Given the description of an element on the screen output the (x, y) to click on. 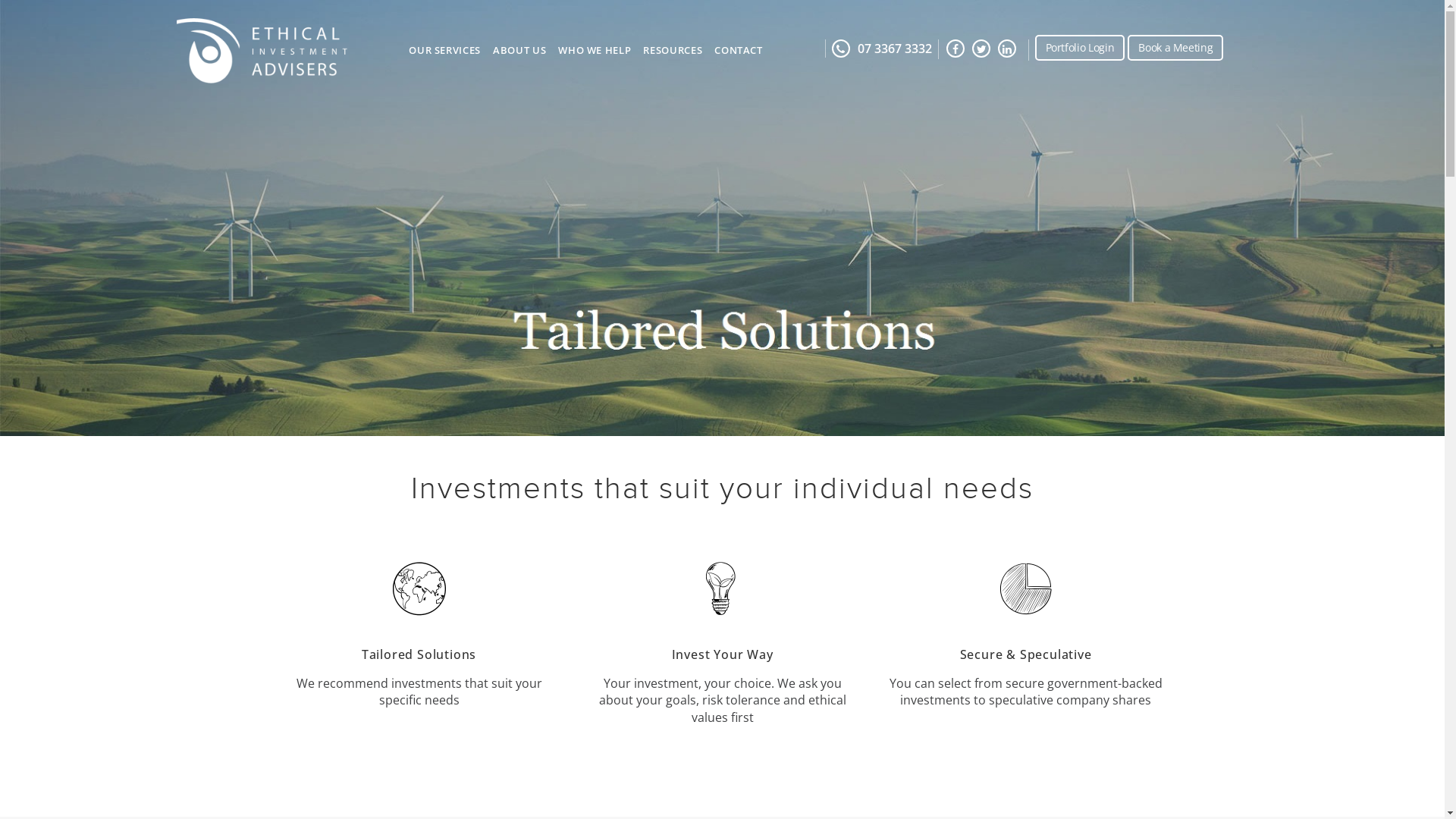
OUR SERVICES Element type: text (444, 54)
Book a Meeting Element type: text (1175, 47)
ABOUT US Element type: text (519, 54)
facebook Element type: hover (957, 48)
CONTACT Element type: text (738, 54)
WHO WE HELP Element type: text (594, 54)
linkedin Element type: hover (1008, 48)
Portfolio Login Element type: text (1079, 47)
twitter Element type: hover (983, 48)
RESOURCES Element type: text (672, 54)
